Given the description of an element on the screen output the (x, y) to click on. 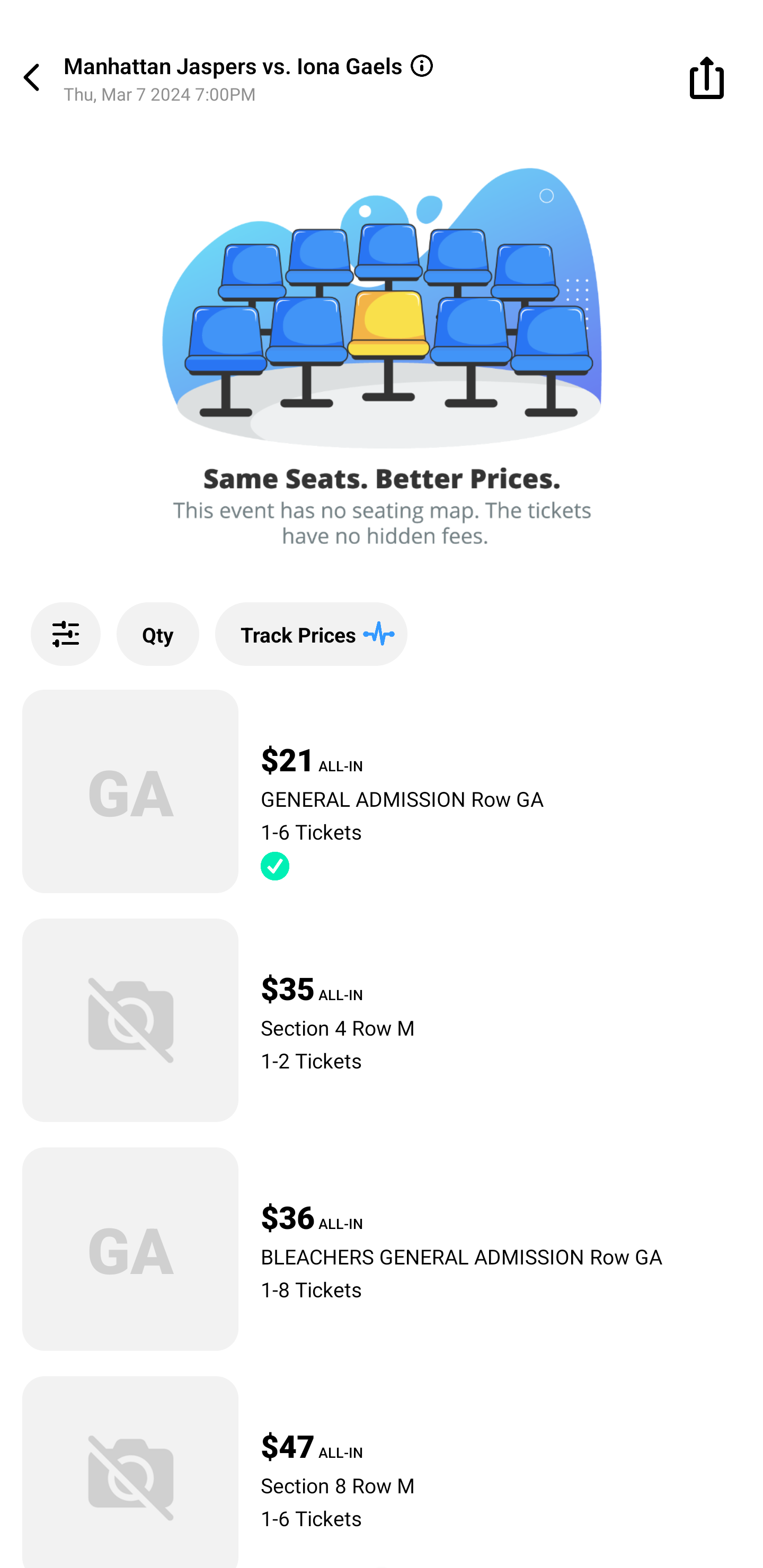
Qty (157, 634)
Track Prices (311, 634)
